Given the description of an element on the screen output the (x, y) to click on. 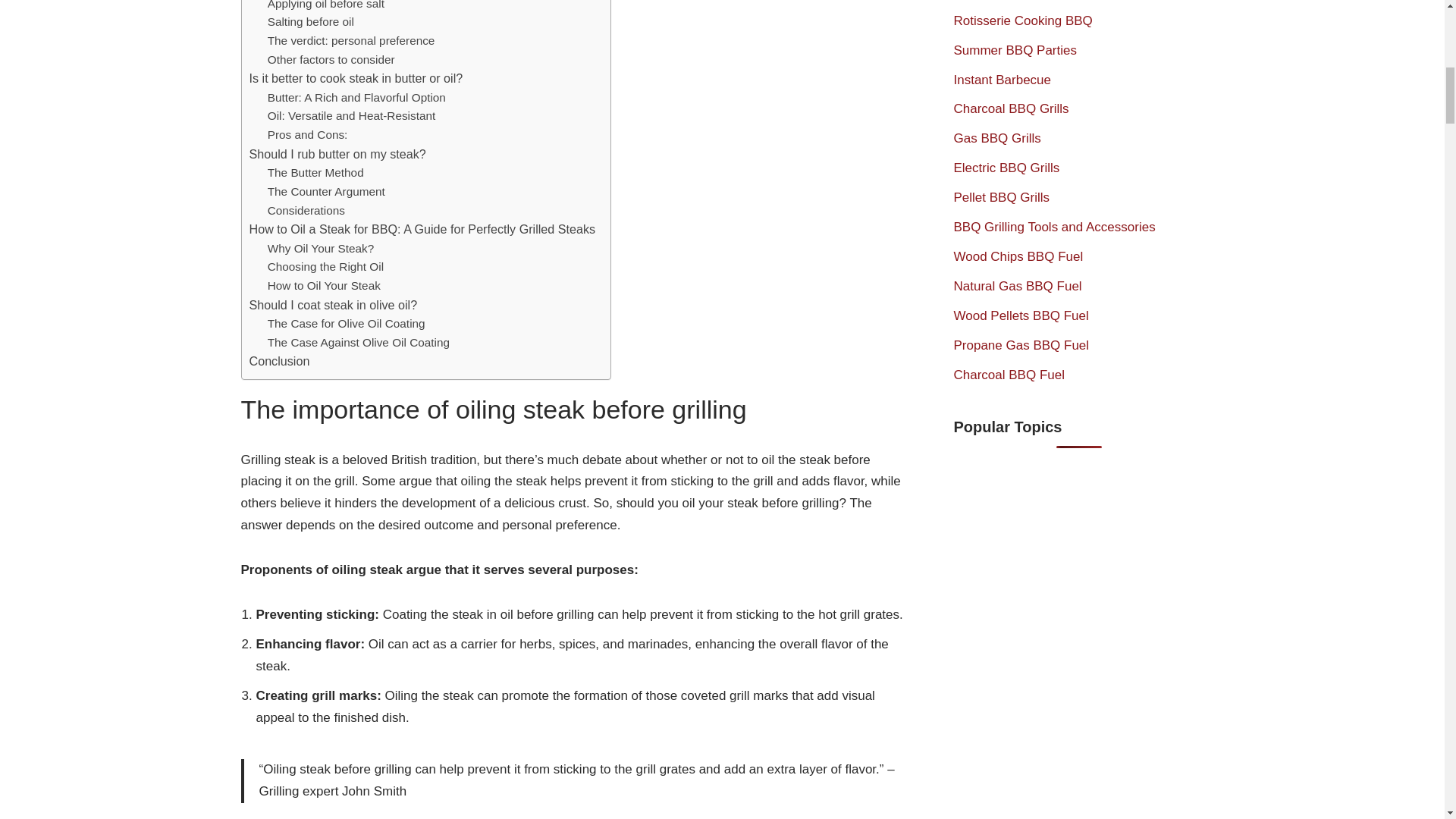
The verdict: personal preference (351, 40)
Is it better to cook steak in butter or oil? (355, 78)
Applying oil before salt (325, 6)
Salting before oil (310, 22)
Other factors to consider (330, 59)
